Given the description of an element on the screen output the (x, y) to click on. 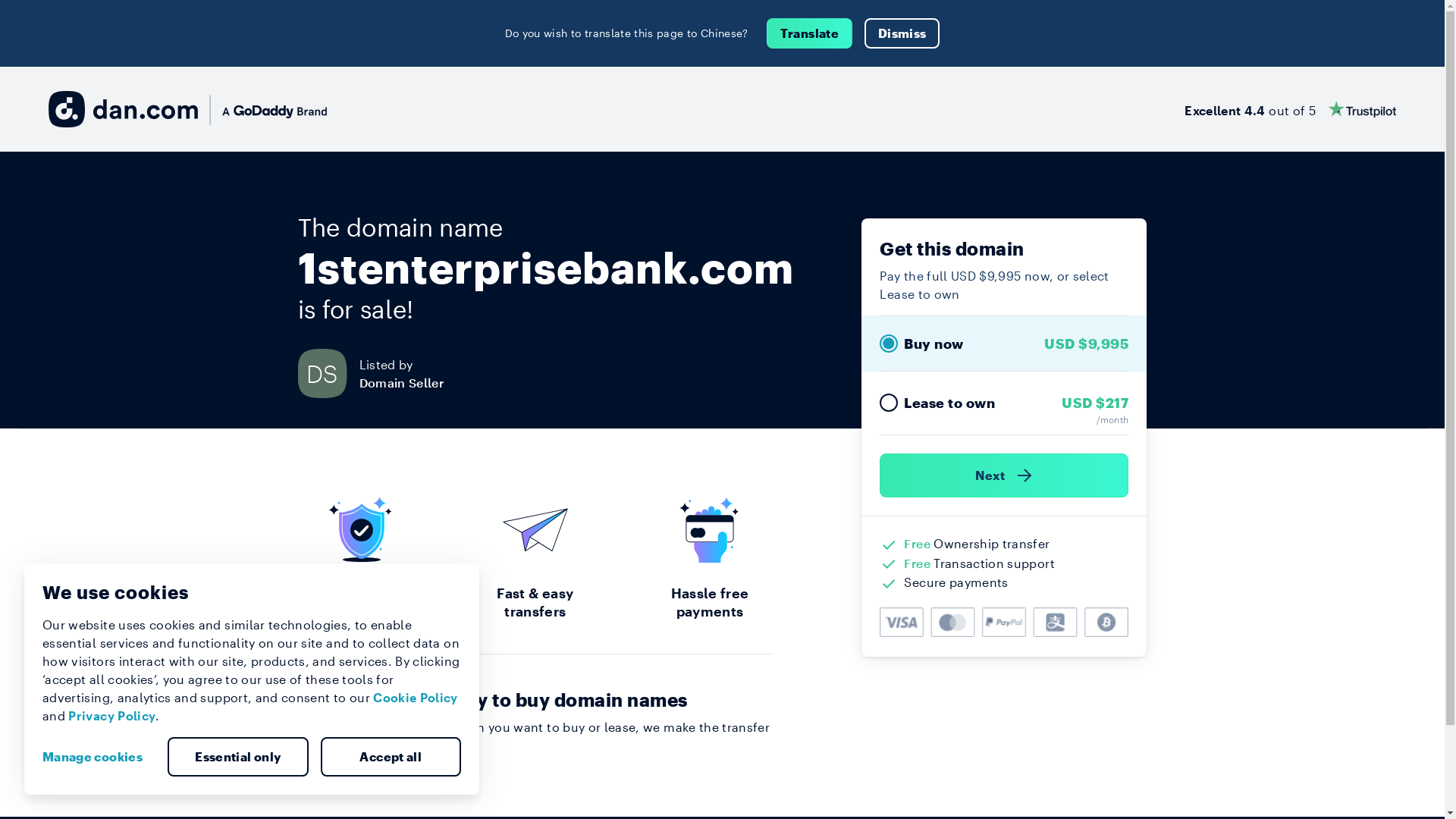
Privacy Policy Element type: text (111, 715)
Accept all Element type: text (390, 756)
Translate Element type: text (809, 33)
Cookie Policy Element type: text (415, 697)
Next
) Element type: text (1003, 475)
Excellent 4.4 out of 5 Element type: text (1290, 109)
Essential only Element type: text (237, 756)
Manage cookies Element type: text (98, 756)
Dismiss Element type: text (901, 33)
